Given the description of an element on the screen output the (x, y) to click on. 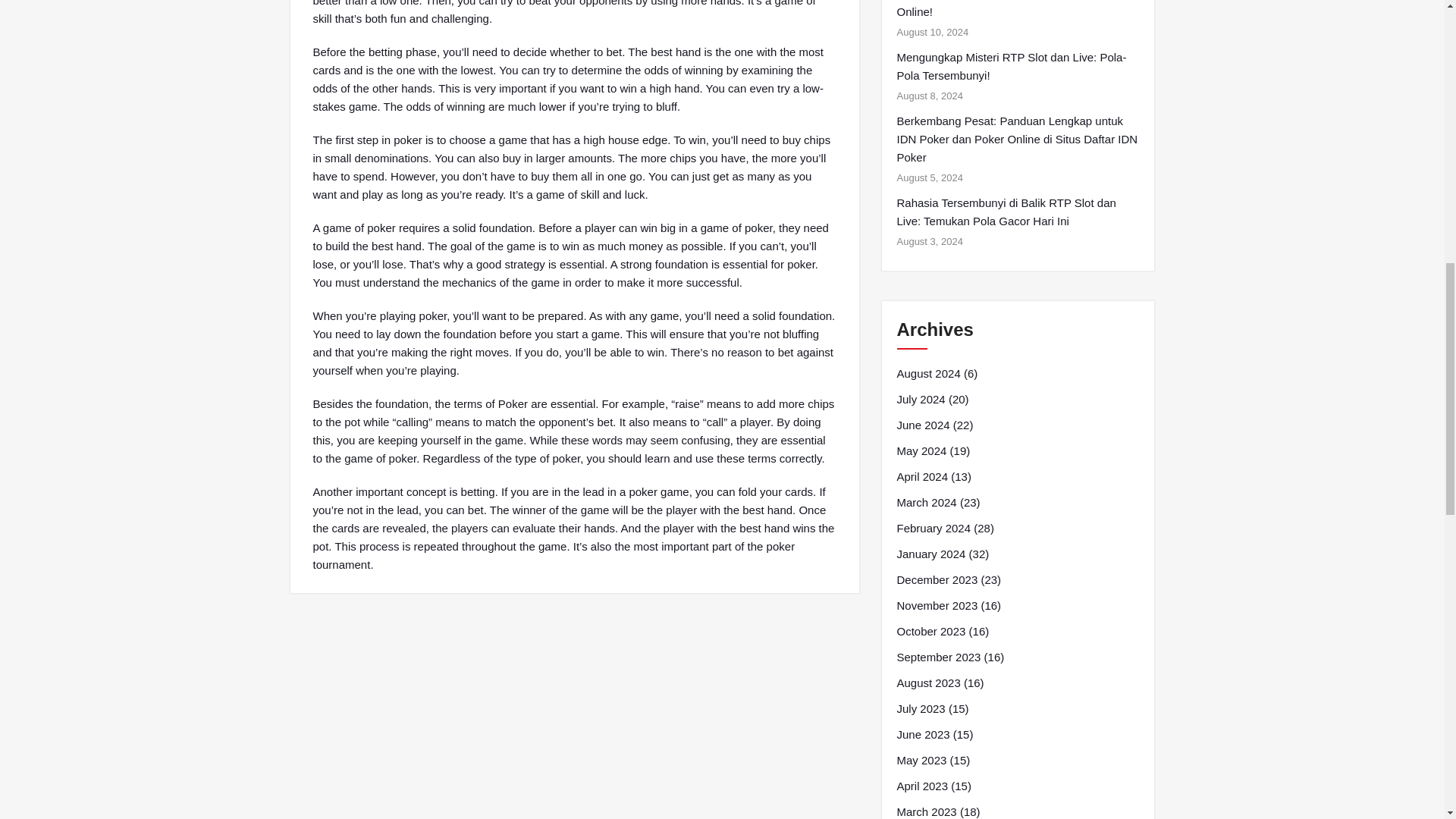
August 2024 (927, 373)
May 2024 (921, 451)
July 2024 (920, 399)
February 2024 (933, 528)
January 2024 (930, 554)
November 2023 (936, 606)
August 2023 (927, 683)
March 2024 (926, 502)
October 2023 (930, 631)
